Given the description of an element on the screen output the (x, y) to click on. 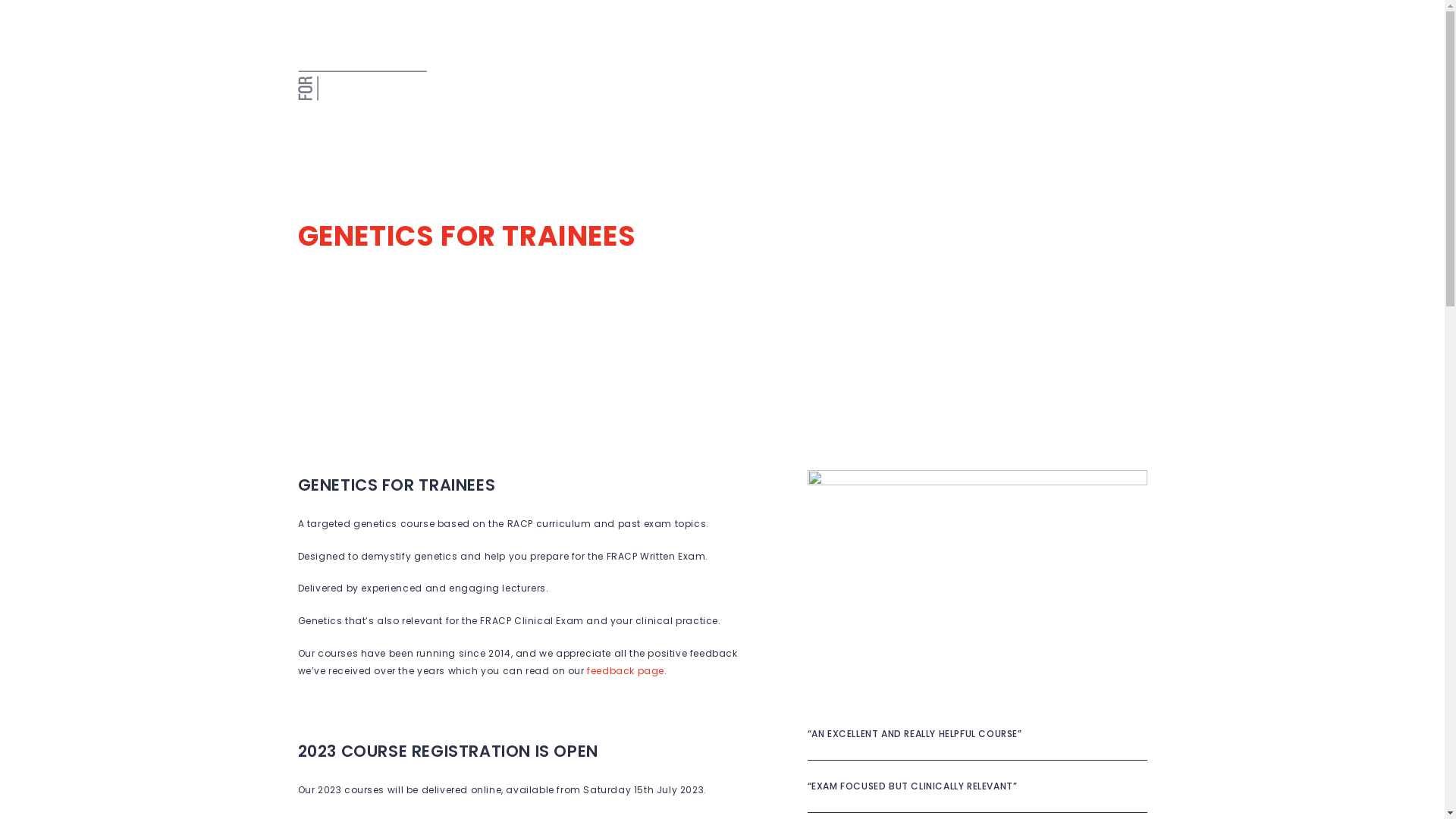
EXAMPLE QUESTIONS Element type: text (846, 95)
feedback page Element type: text (625, 670)
FEEDBACK Element type: text (1037, 95)
COURSE OUTLINE Element type: text (627, 95)
CONTACT Element type: text (1110, 95)
REGISTRATION Element type: text (732, 95)
ABOUT THE COURSE Element type: text (508, 95)
USEFUL LINKS Element type: text (956, 95)
